Given the description of an element on the screen output the (x, y) to click on. 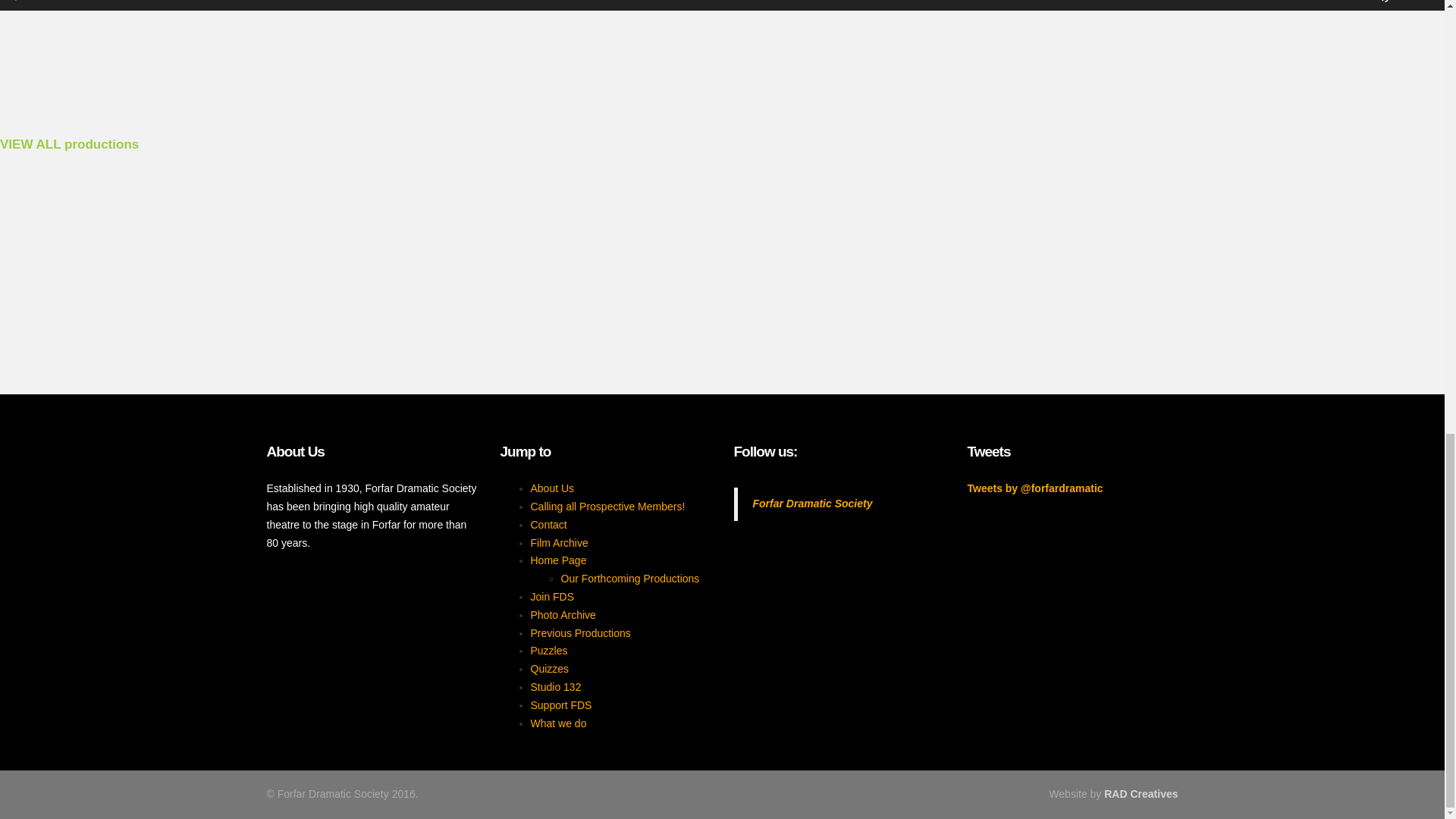
Calling all Prospective Members! (608, 506)
Puzzles (549, 650)
Forfar Dramatic Society (812, 503)
Our Forthcoming Productions (630, 578)
Previous Productions (580, 633)
What we do (558, 723)
Support FDS (561, 705)
Join FDS (553, 596)
Mute (1382, 1)
Quizzes (550, 668)
